Given the description of an element on the screen output the (x, y) to click on. 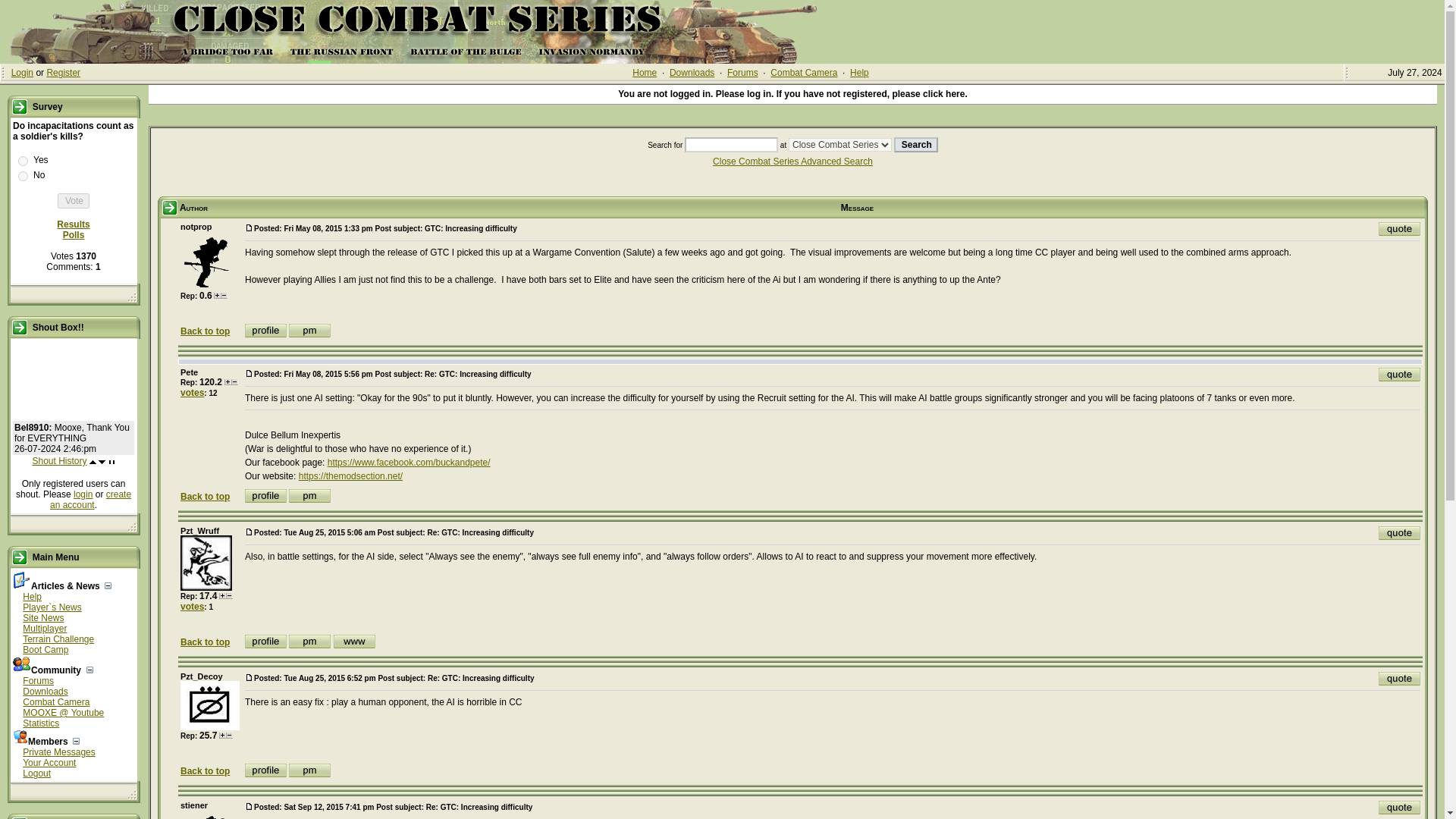
Forums (742, 72)
Private Messages (58, 751)
Visit poster's website (354, 641)
Statistics (41, 723)
Forums (38, 680)
Help (32, 596)
Logout (36, 773)
1 (22, 161)
Send private message (309, 641)
Reply with quote (1399, 678)
Login (22, 72)
Terrain Challenge (58, 638)
Send private message (309, 495)
Back to top (205, 330)
Boot Camp (45, 649)
